Given the description of an element on the screen output the (x, y) to click on. 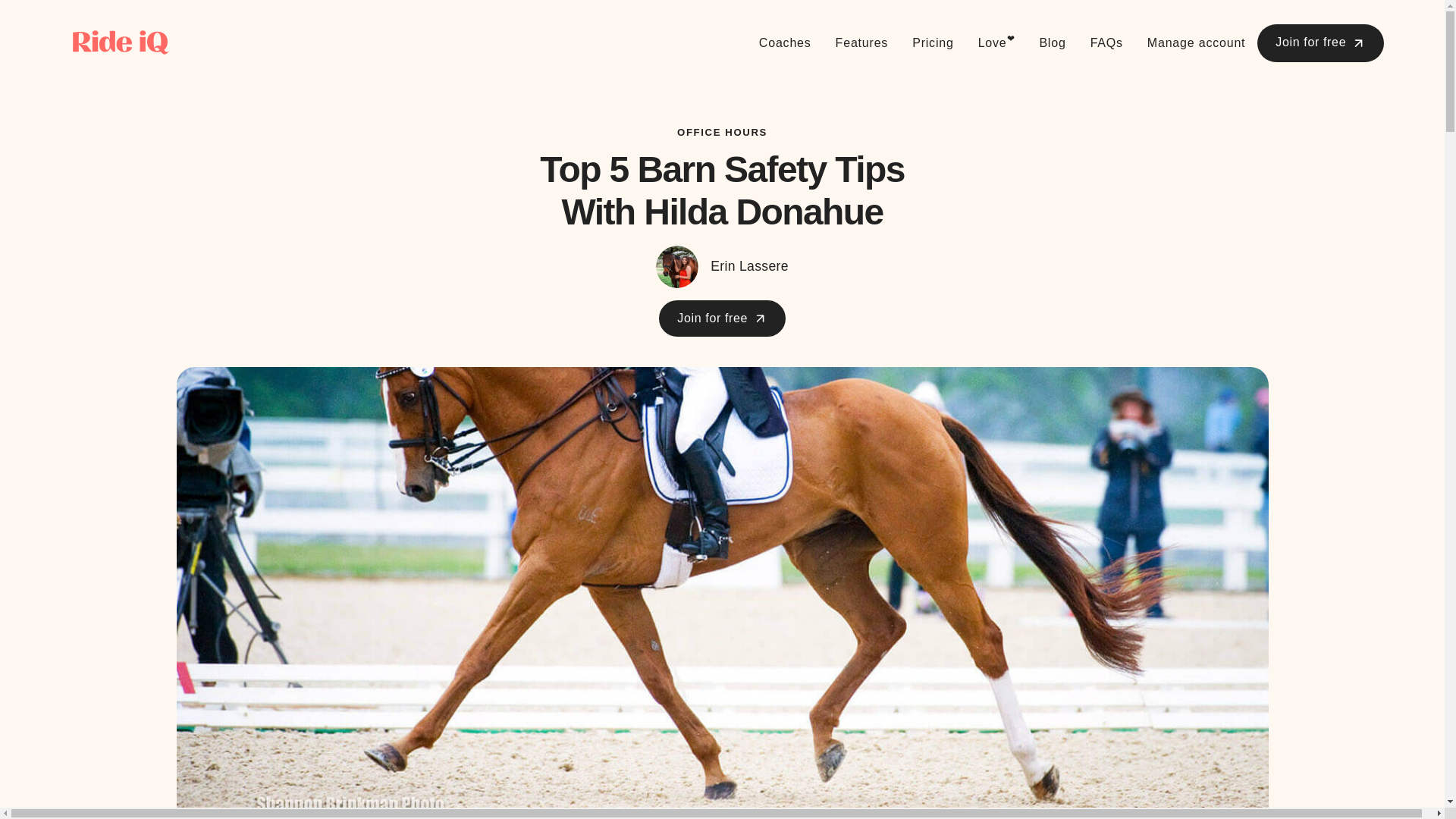
Pricing (932, 43)
Coaches (785, 43)
FAQs (1106, 43)
Join for free (721, 318)
Join for free (1320, 43)
Blog (1051, 43)
Manage account (1196, 43)
Features (862, 43)
